Given the description of an element on the screen output the (x, y) to click on. 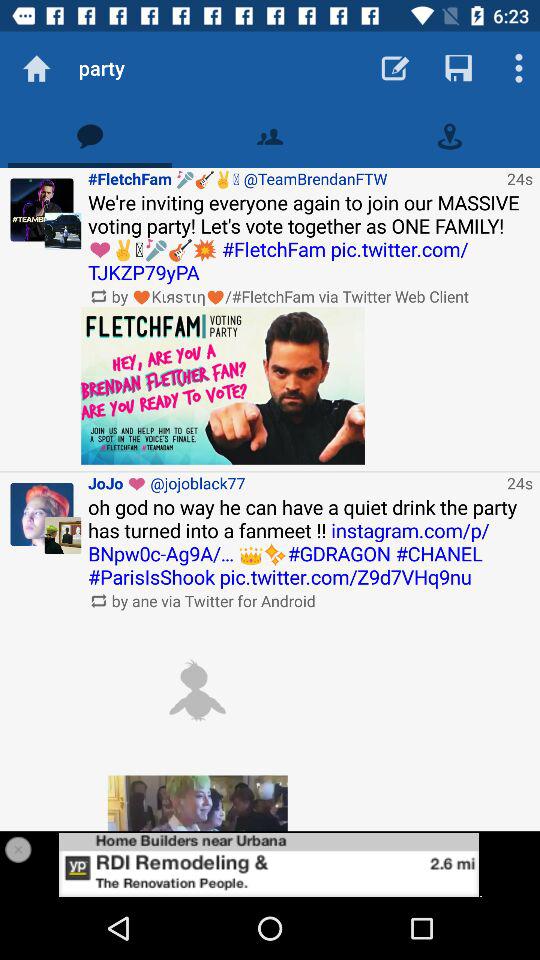
turn on icon to the left of 24s (294, 482)
